Given the description of an element on the screen output the (x, y) to click on. 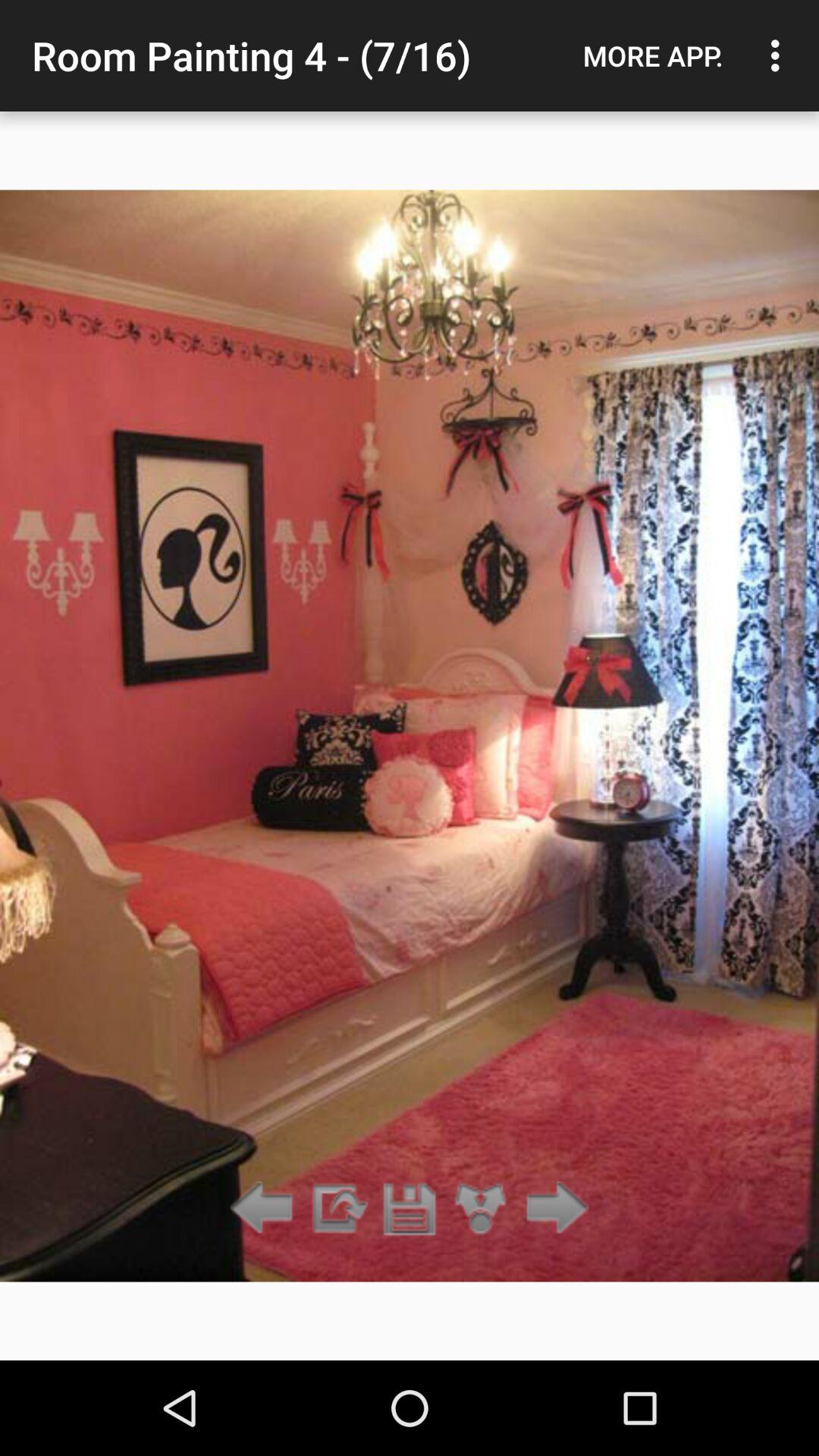
launch the app below room painting 4 item (409, 1208)
